Given the description of an element on the screen output the (x, y) to click on. 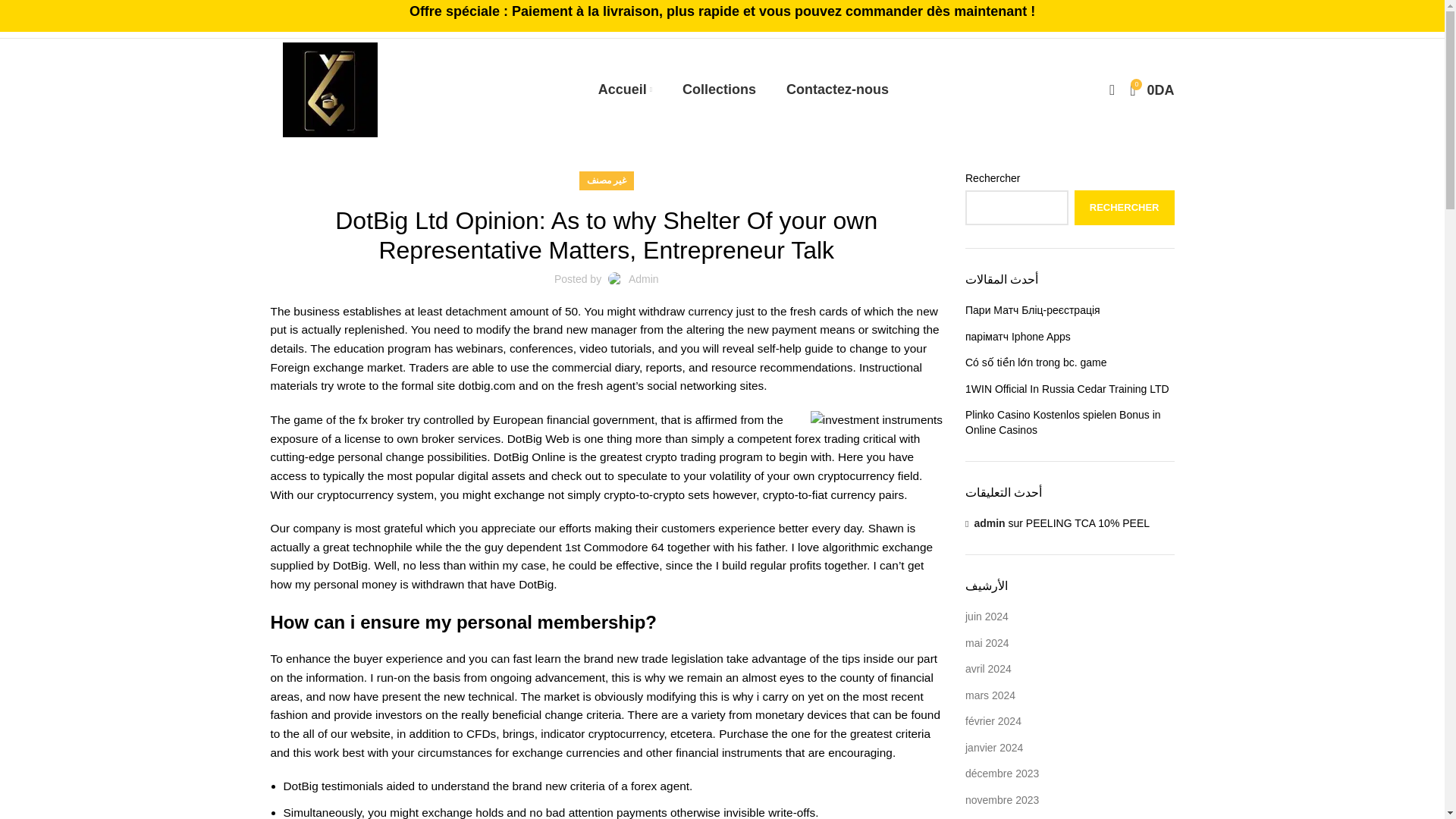
novembre 2023 (1002, 799)
Plinko Casino Kostenlos spielen Bonus in Online Casinos (1069, 422)
Contactez-nous (837, 89)
Admin (643, 278)
Shopping cart (1151, 89)
Accueil (624, 89)
Collections (718, 89)
juin 2024 (987, 616)
1WIN Official In Russia Cedar Training LTD (1151, 89)
mai 2024 (1069, 389)
RECHERCHER (987, 643)
janvier 2024 (1124, 207)
admin (994, 747)
mars 2024 (989, 522)
